Given the description of an element on the screen output the (x, y) to click on. 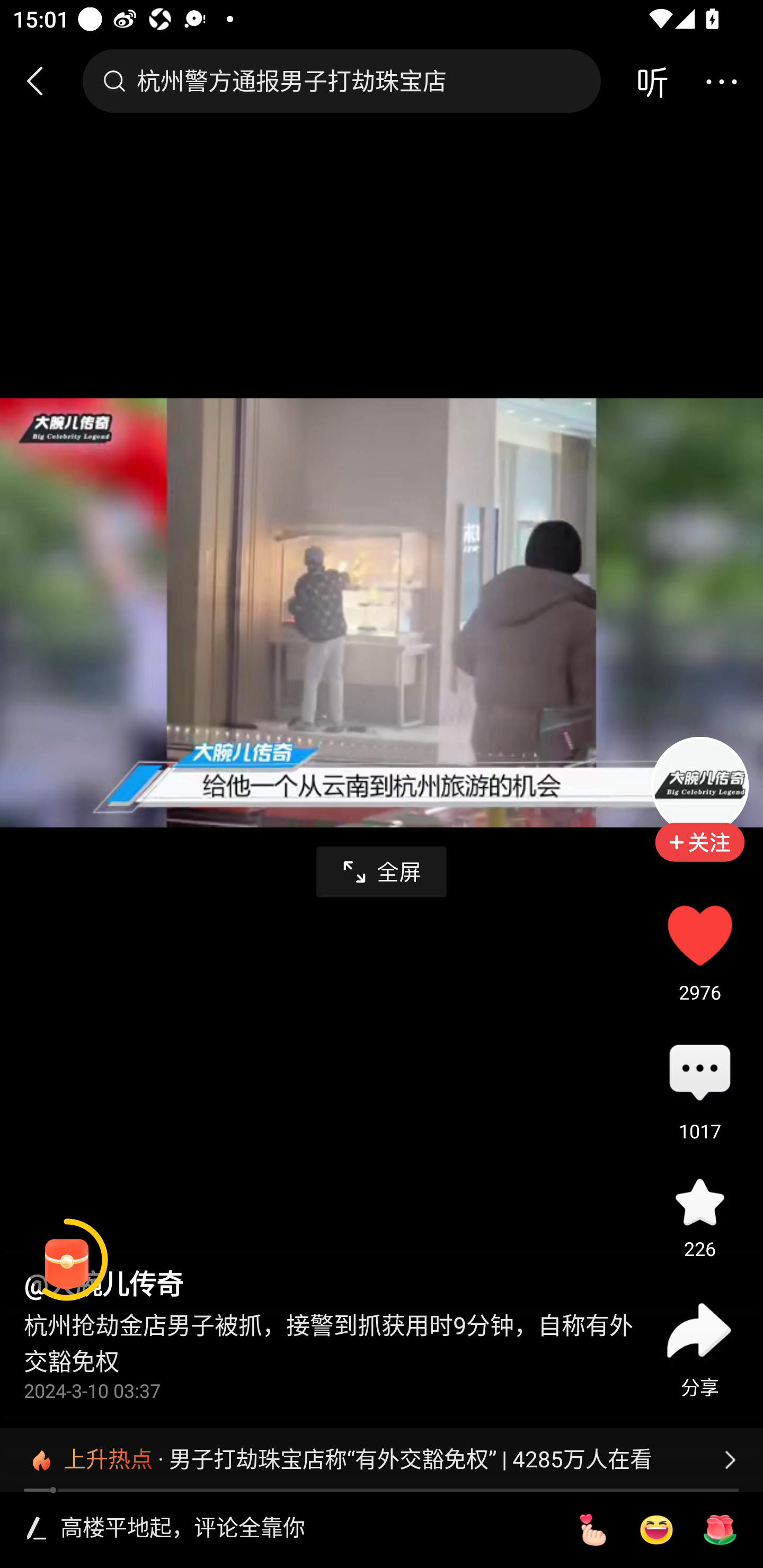
杭州警方通报男子打劫珠宝店 搜索框，杭州警方通报男子打劫珠宝店 (341, 80)
返回 (43, 80)
音频 (651, 80)
更多操作 (720, 80)
头像 (699, 785)
全屏播放 (381, 871)
已点赞2976 2976 (699, 935)
评论1017 评论 1017 (699, 1074)
收藏 226 (699, 1201)
阅读赚金币 (66, 1259)
分享 (699, 1330)
上升热点  · 男子打劫珠宝店称“有外交豁免权”  | 4285万人在看 (381, 1459)
高楼平地起，评论全靠你 (305, 1529)
[比心] (592, 1530)
[大笑] (656, 1530)
[玫瑰] (719, 1530)
